Given the description of an element on the screen output the (x, y) to click on. 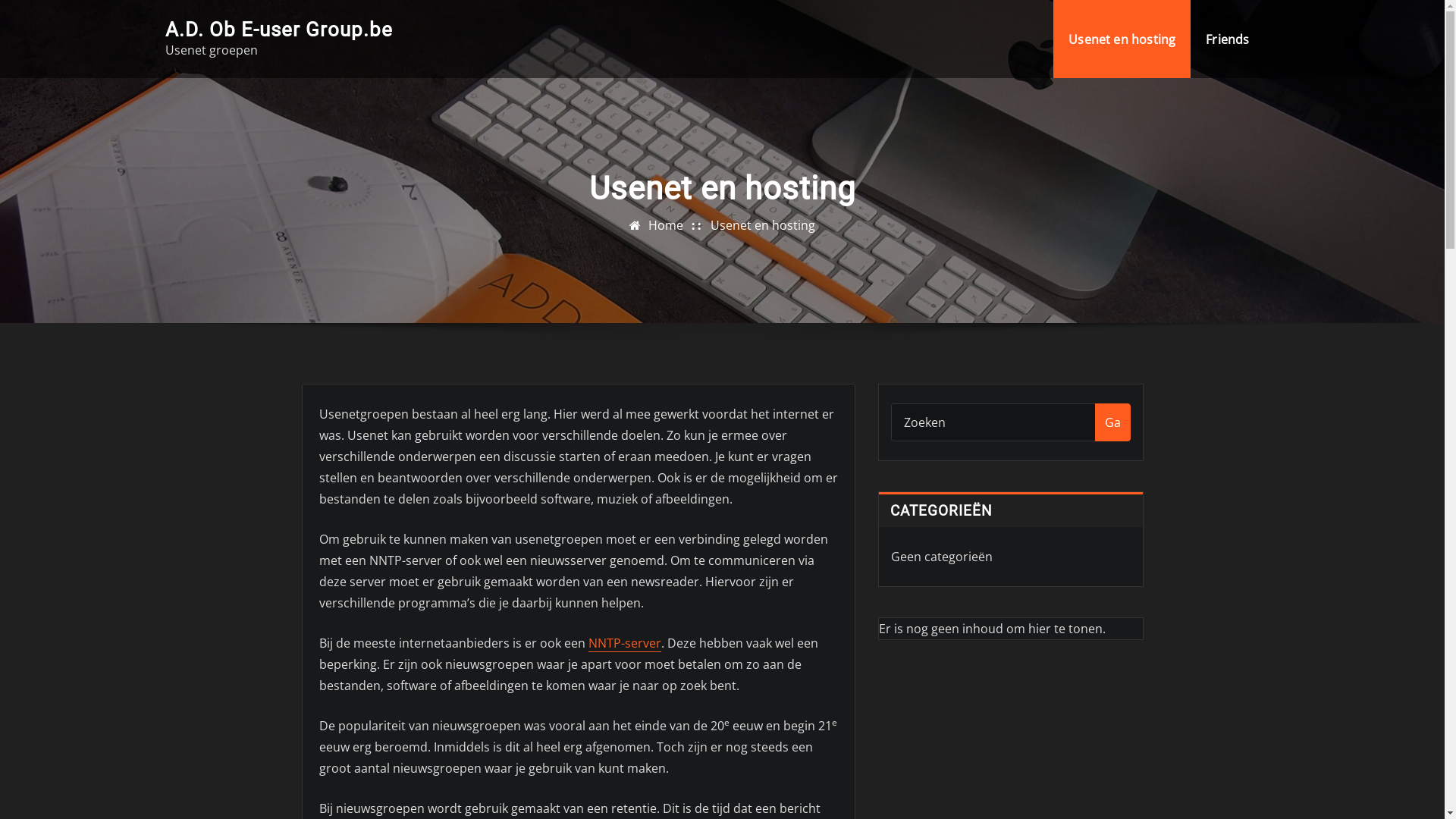
NNTP-server Element type: text (624, 642)
Ga Element type: text (1112, 422)
Home Element type: text (665, 224)
Usenet en hosting Element type: text (1121, 39)
A.D. Ob E-user Group.be Element type: text (278, 29)
Friends Element type: text (1227, 39)
